Given the description of an element on the screen output the (x, y) to click on. 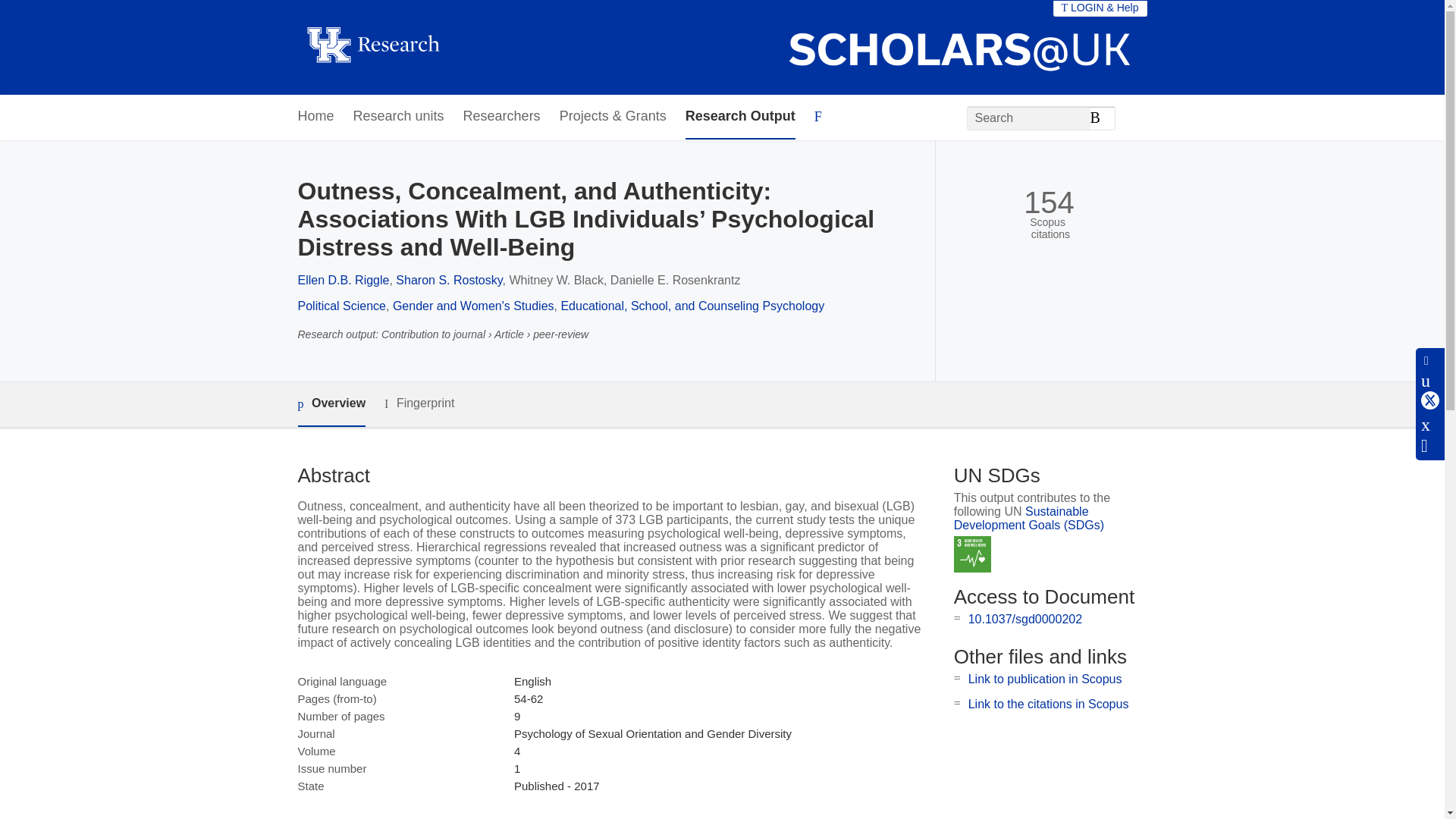
SDG 3 - Good Health and Well-being (972, 554)
Ellen D.B. Riggle (342, 279)
Fingerprint (419, 403)
Link to the citations in Scopus (1048, 703)
Political Science (341, 305)
Researchers (501, 117)
Research units (398, 117)
Gender and Women's Studies (473, 305)
Link to publication in Scopus (1045, 678)
